Given the description of an element on the screen output the (x, y) to click on. 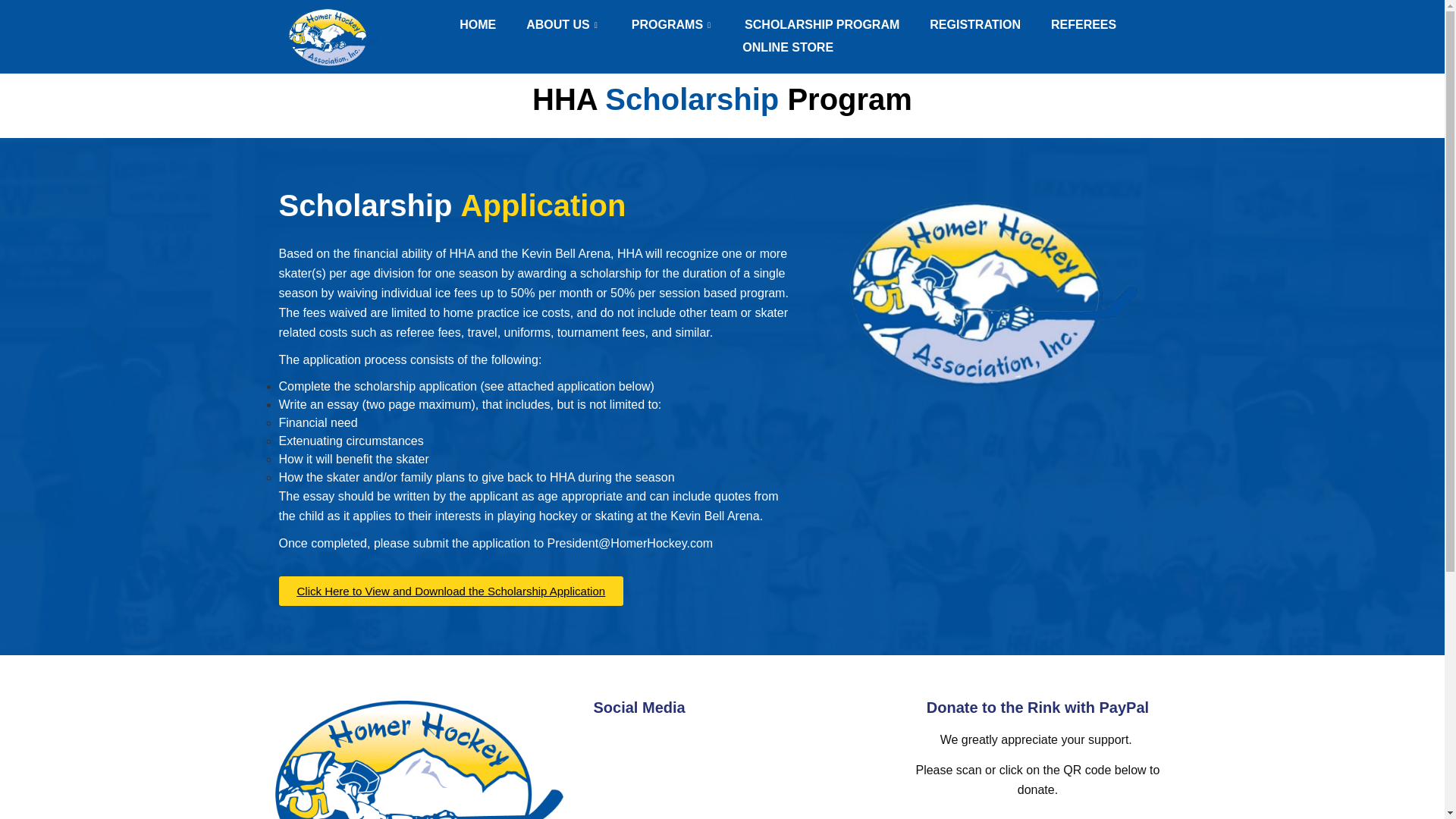
HHA Logo 1 (418, 760)
PROGRAMS (672, 24)
SCHOLARSHIP PROGRAM (821, 24)
ONLINE STORE (787, 47)
REGISTRATION (974, 24)
ABOUT US (563, 24)
HOME (477, 24)
Donate to the Rink with PayPal (1037, 707)
Click Here to View and Download the Scholarship Application (451, 600)
REFEREES (1083, 24)
